Given the description of an element on the screen output the (x, y) to click on. 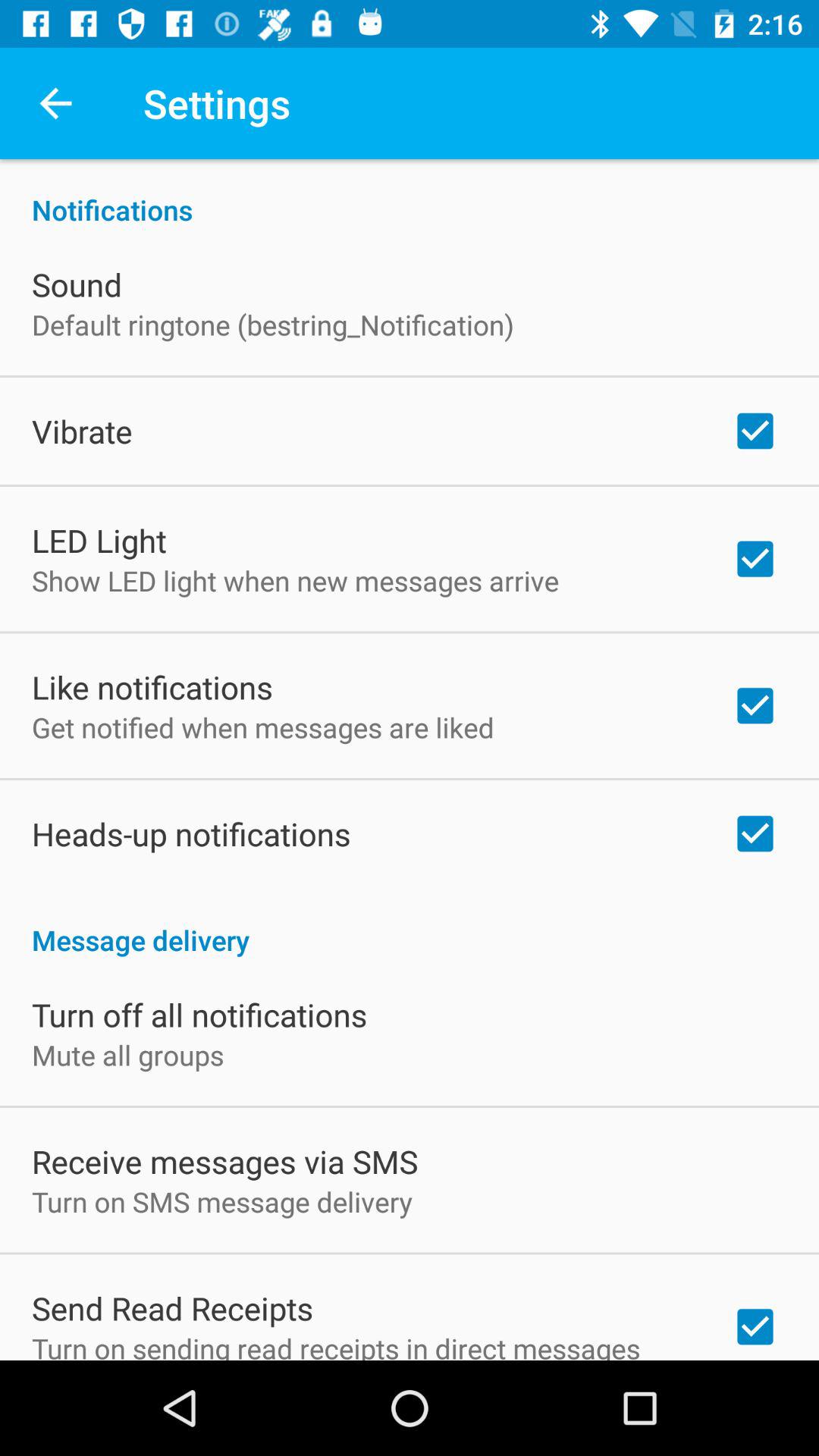
flip to receive messages via icon (224, 1161)
